Given the description of an element on the screen output the (x, y) to click on. 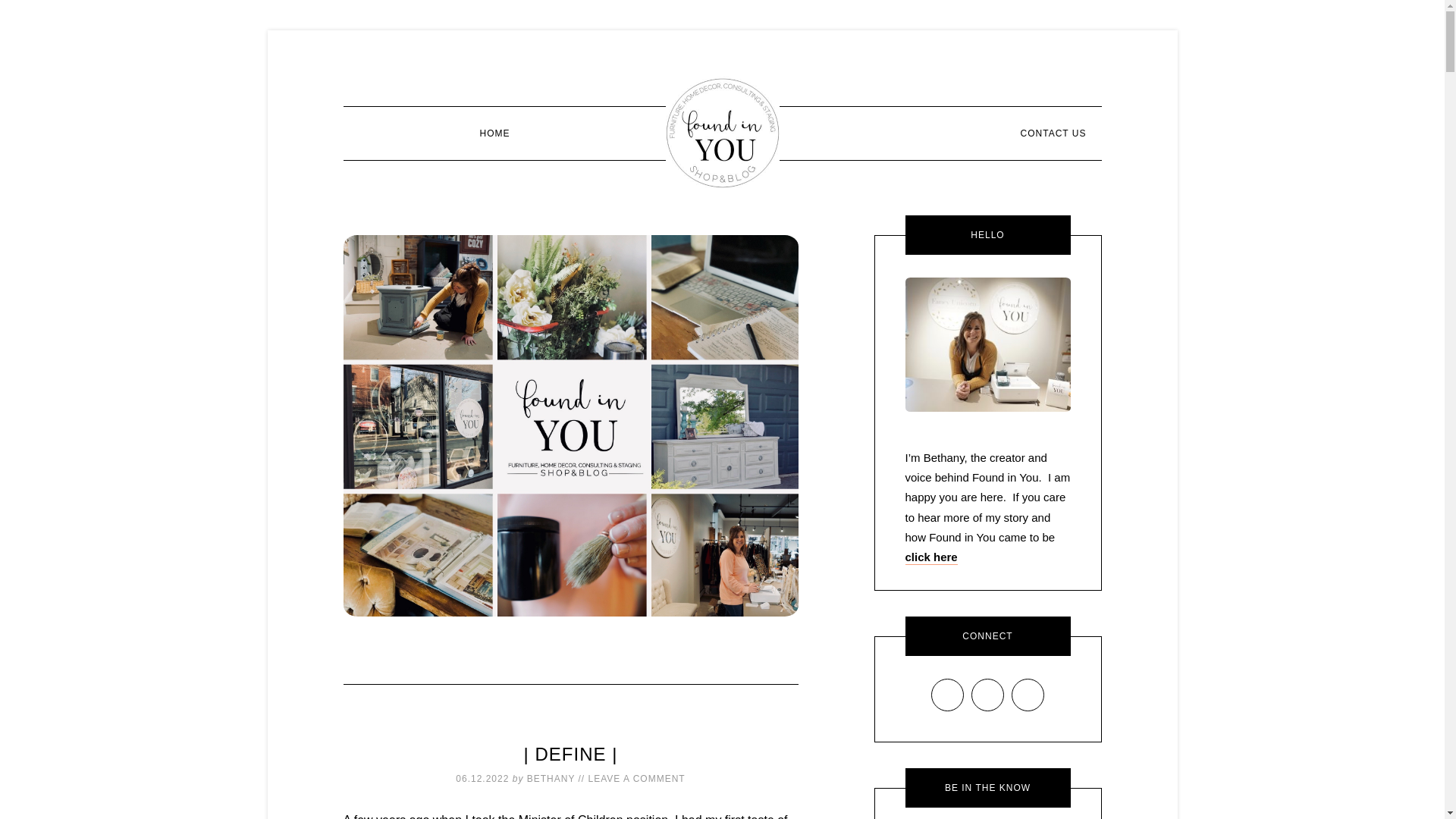
Pinterest (1027, 695)
HOME (494, 133)
LEAVE A COMMENT (636, 778)
CONTACT US (1054, 133)
BETHANY (551, 778)
Instagram (987, 695)
Email (947, 695)
